Given the description of an element on the screen output the (x, y) to click on. 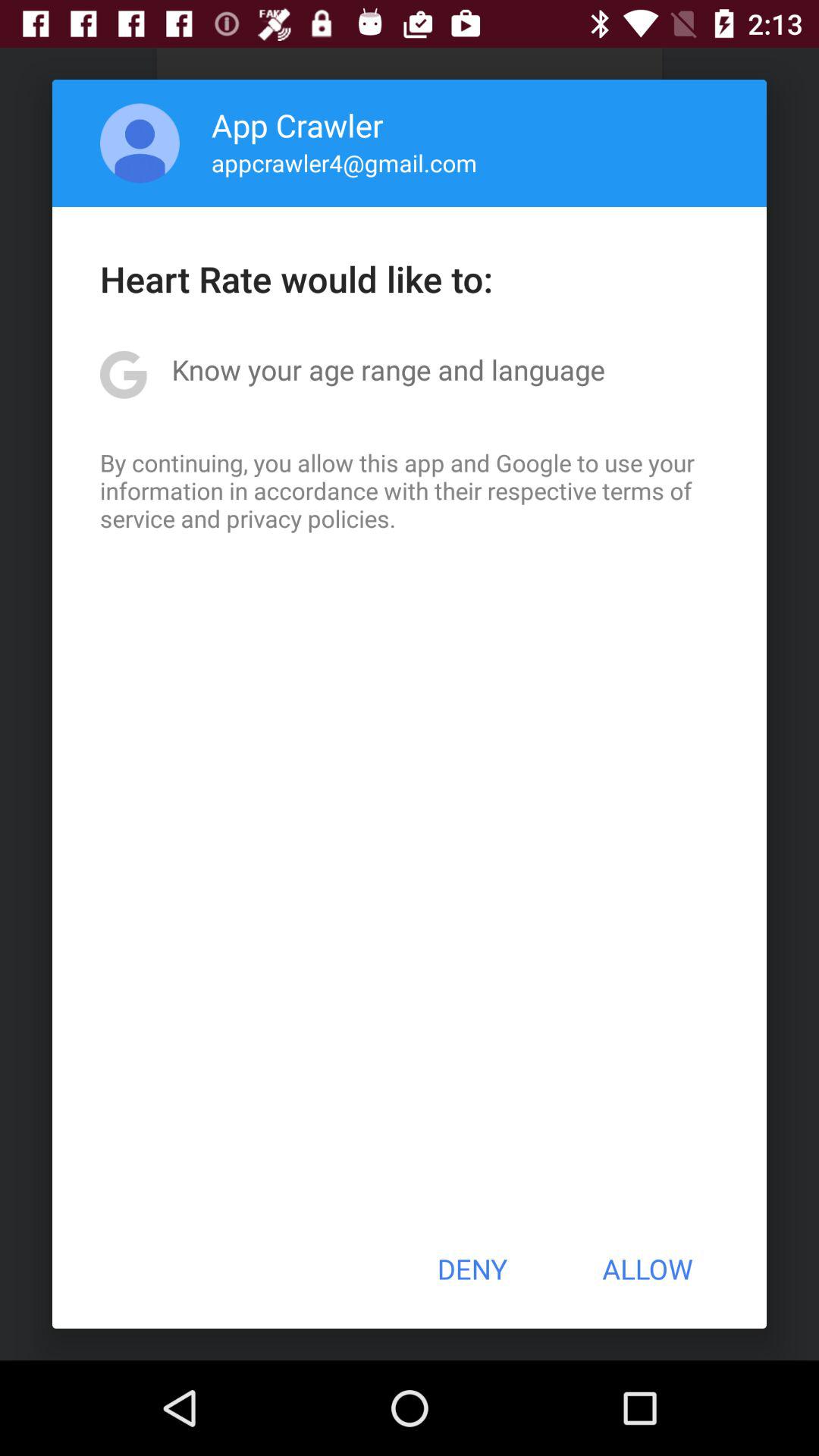
turn off item above the appcrawler4@gmail.com icon (297, 124)
